Given the description of an element on the screen output the (x, y) to click on. 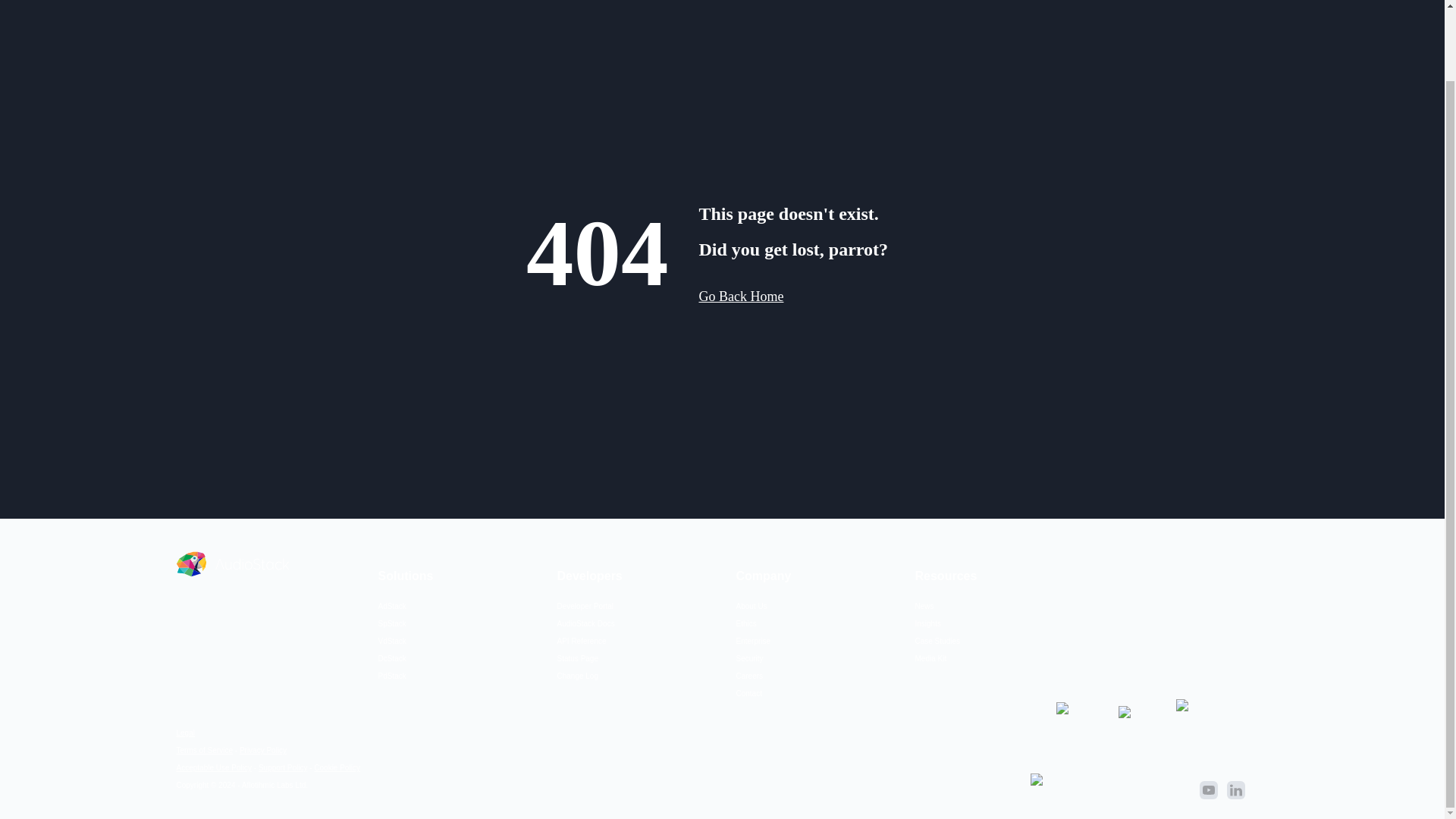
SpStack (391, 623)
About Us (751, 605)
Support Policy (283, 767)
AudioStack Docs (585, 623)
Go Back Home (740, 296)
Acceptable Use Policy (213, 767)
PdStack (391, 675)
Privacy Policy (263, 750)
News (923, 605)
Contact (748, 693)
